Given the description of an element on the screen output the (x, y) to click on. 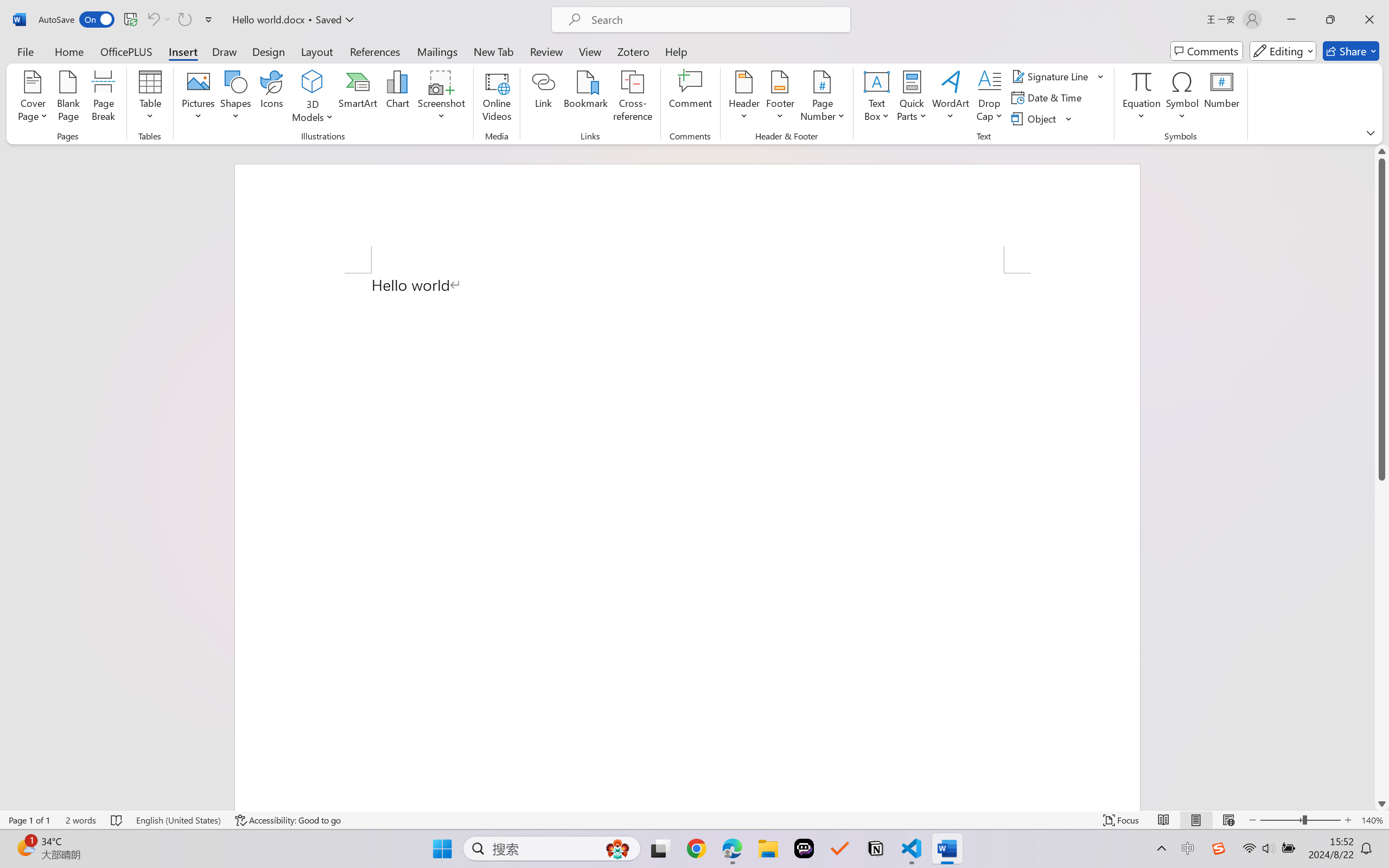
Zoom In (1348, 819)
